Given the description of an element on the screen output the (x, y) to click on. 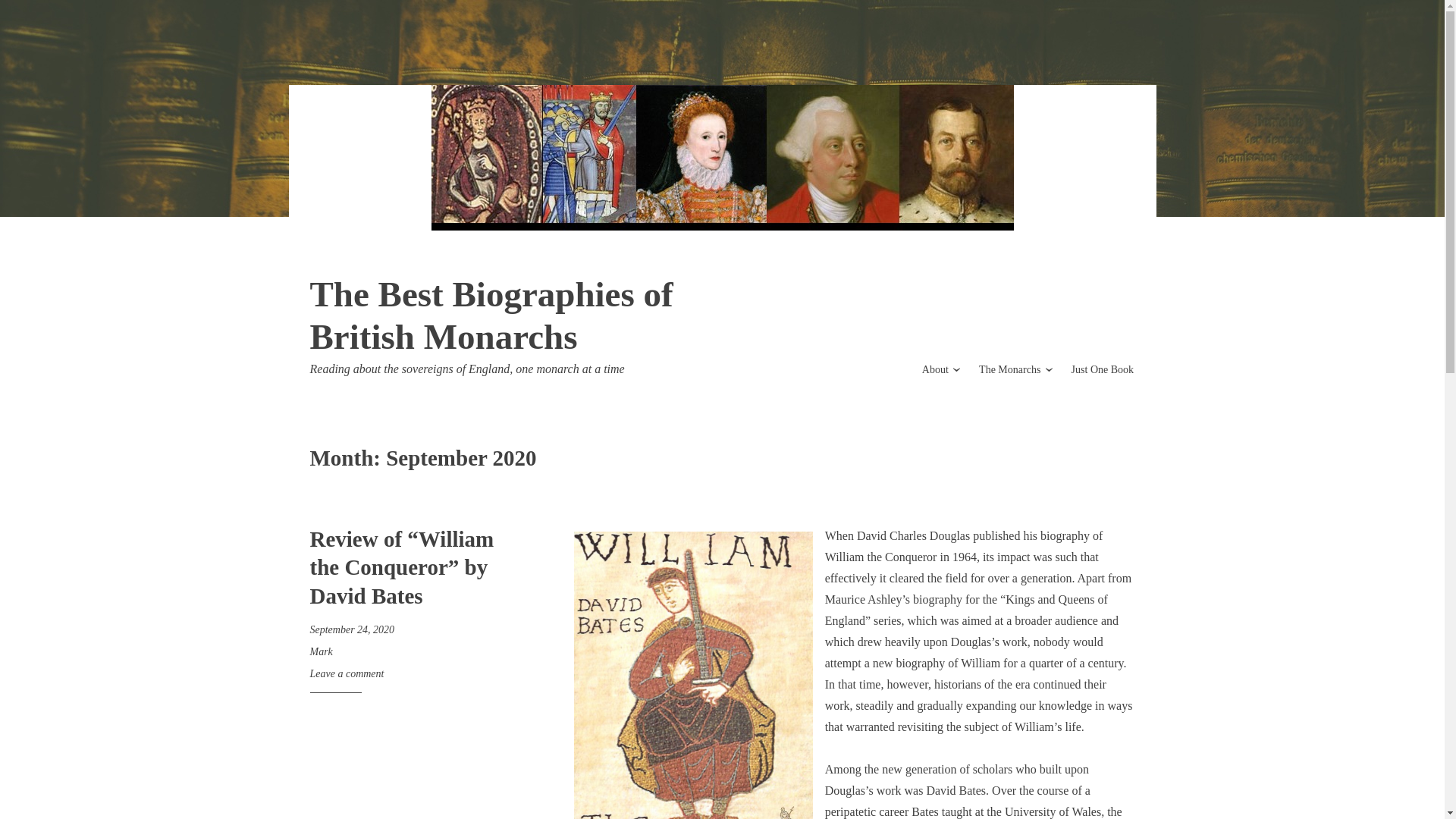
About (935, 369)
Leave a comment (346, 673)
The Best Biographies of British Monarchs (490, 315)
Mark (319, 651)
The Monarchs (1009, 369)
September 24, 2020 (351, 628)
Just One Book (1102, 369)
